Given the description of an element on the screen output the (x, y) to click on. 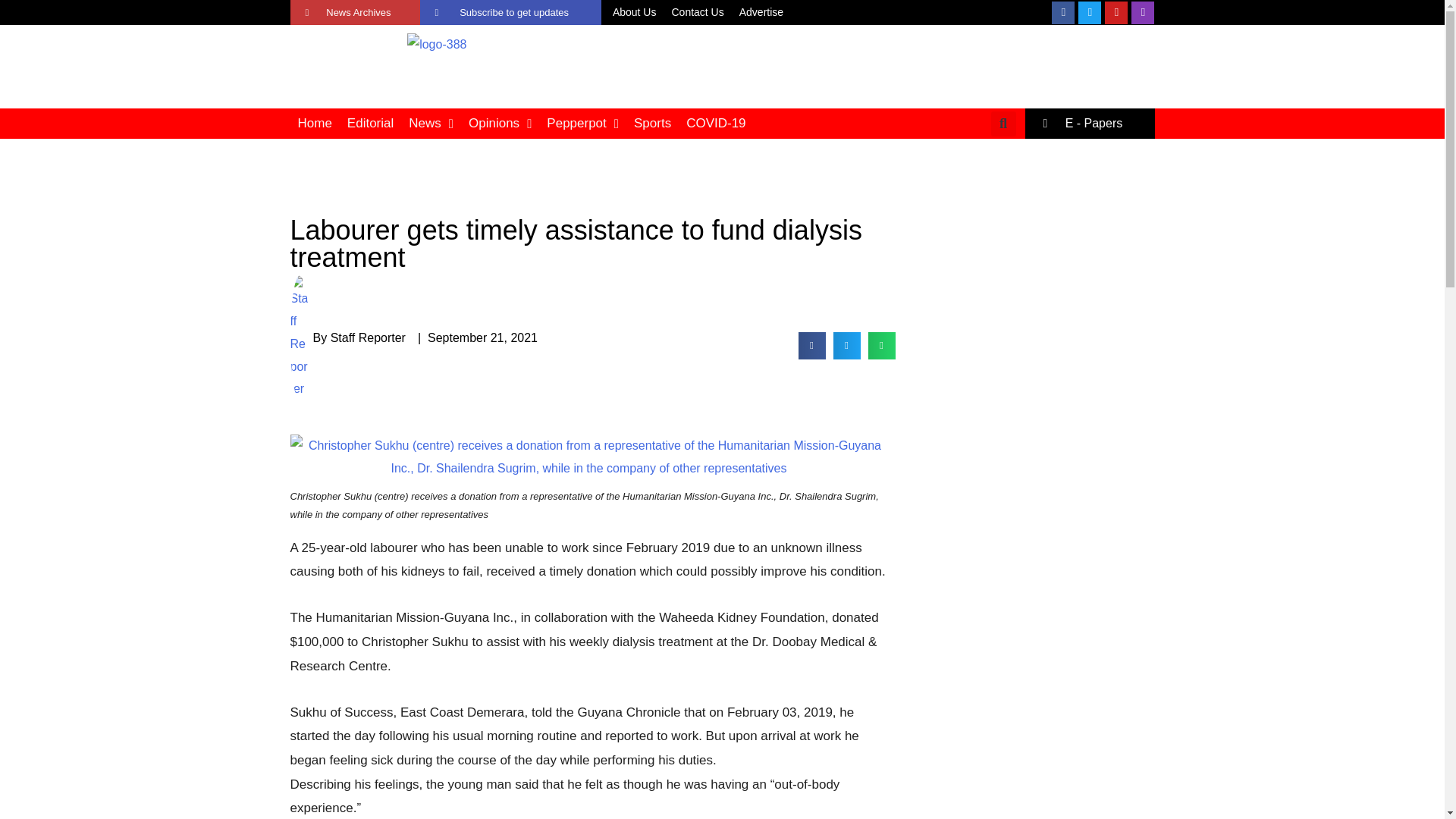
Contact Us (696, 13)
donation (587, 456)
Facebook (1062, 12)
Youtube (1115, 12)
Twitter (1089, 12)
Home (314, 123)
Editorial (370, 123)
Subscribe to get updates (510, 12)
News Archives (354, 12)
Instagram (1142, 12)
